Given the description of an element on the screen output the (x, y) to click on. 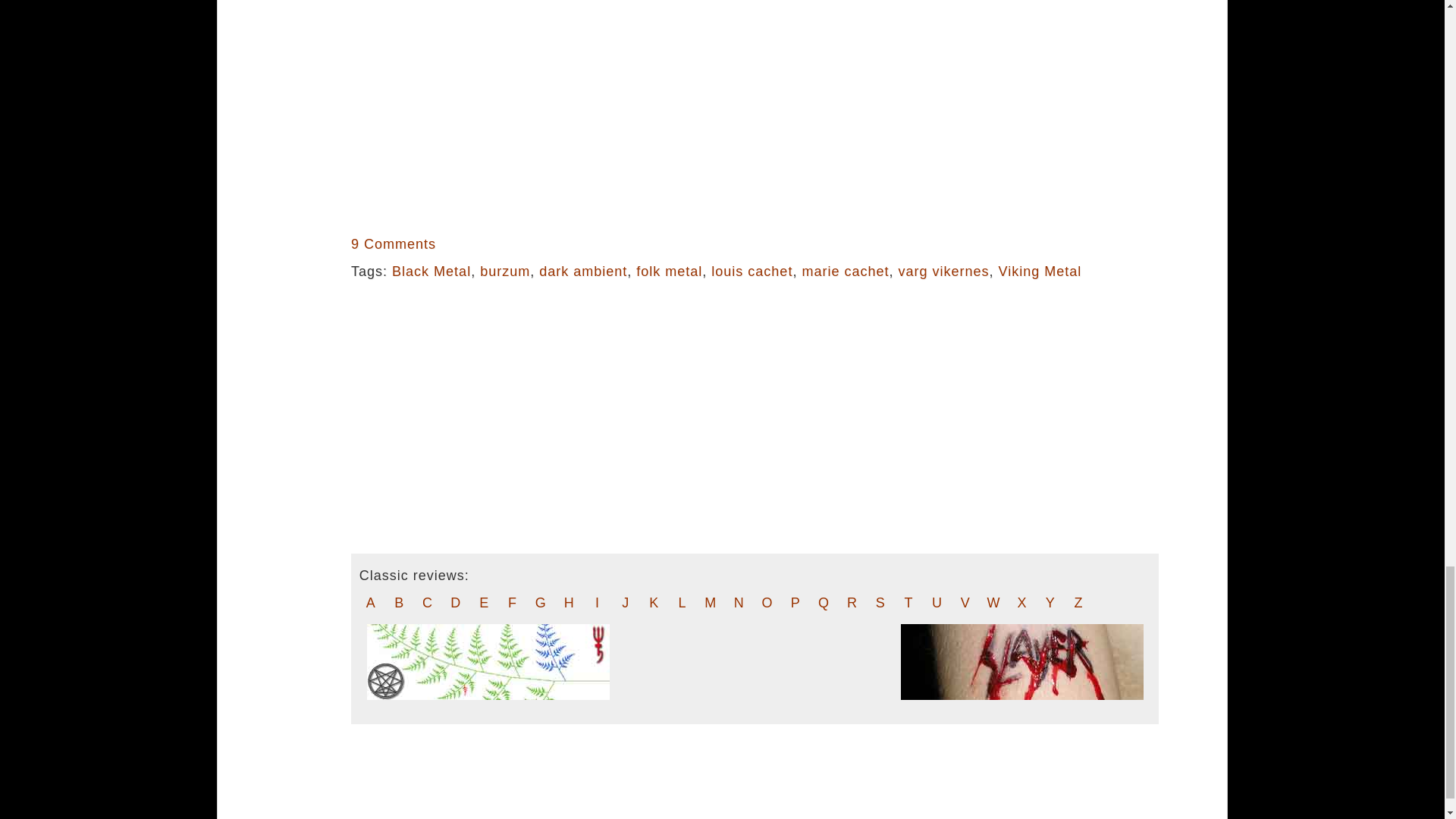
louis cachet (751, 271)
varg vikernes (943, 271)
folk metal (668, 271)
burzum (504, 271)
9 Comments (392, 243)
dark ambient (582, 271)
Viking Metal (1039, 271)
marie cachet (845, 271)
Black Metal (430, 271)
